Given the description of an element on the screen output the (x, y) to click on. 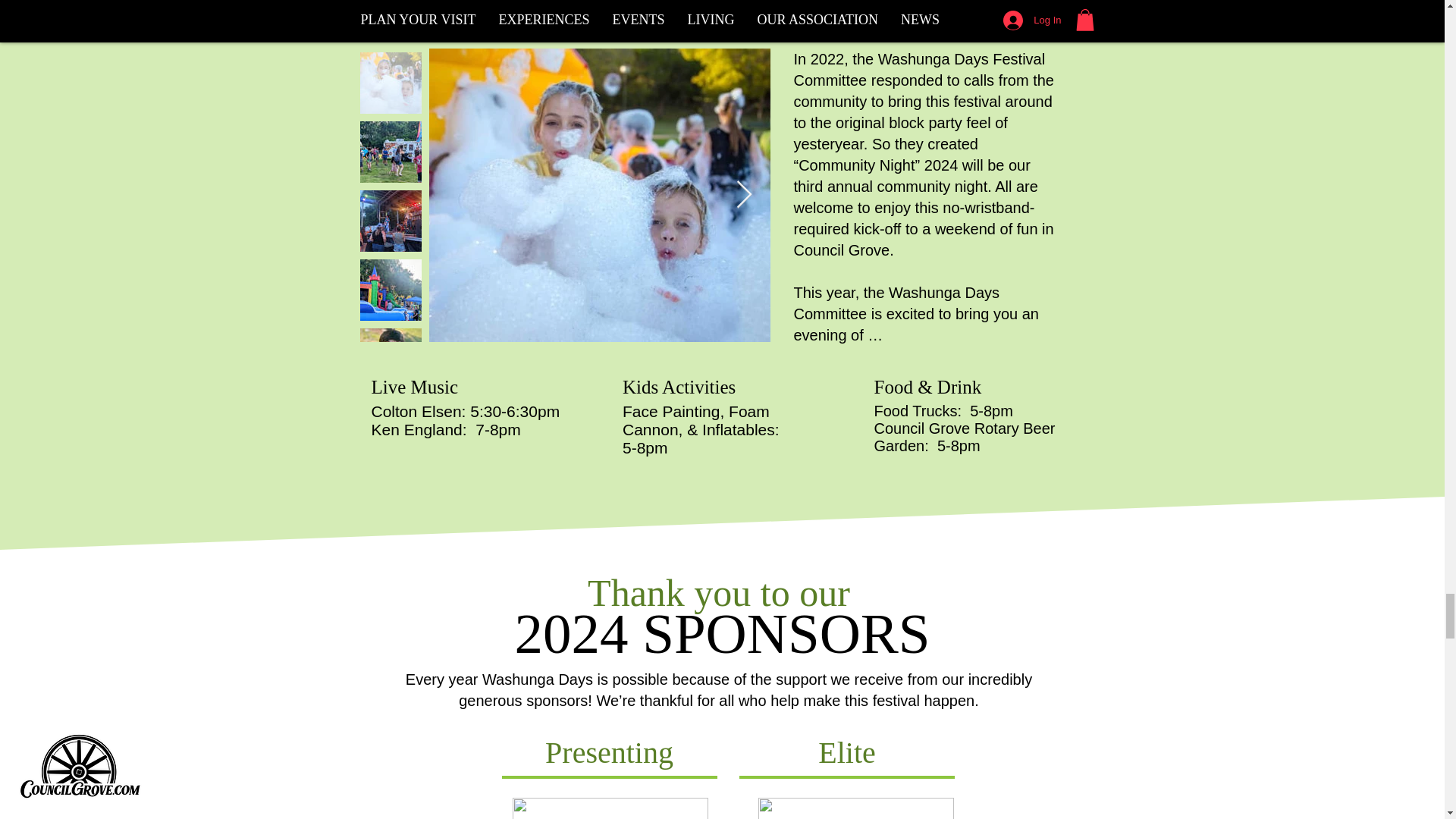
Logo-FarmersDrovers-Square-Reverse.jpg (609, 808)
Logo-TCTBroadband.jpg (855, 808)
